Given the description of an element on the screen output the (x, y) to click on. 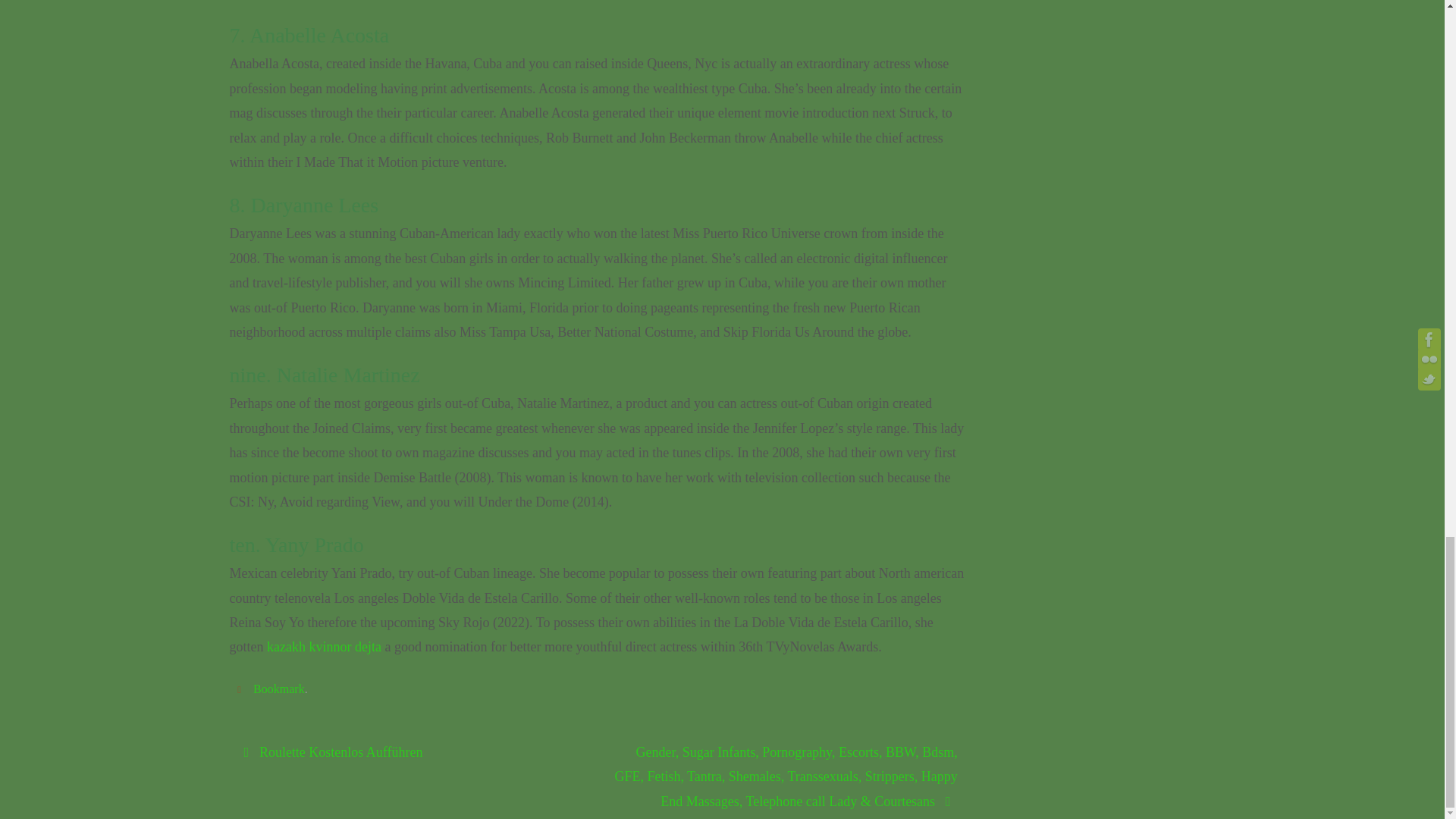
 Bookmark the permalink (240, 688)
kazakh kvinnor dejta (323, 646)
Bookmark (278, 689)
